Given the description of an element on the screen output the (x, y) to click on. 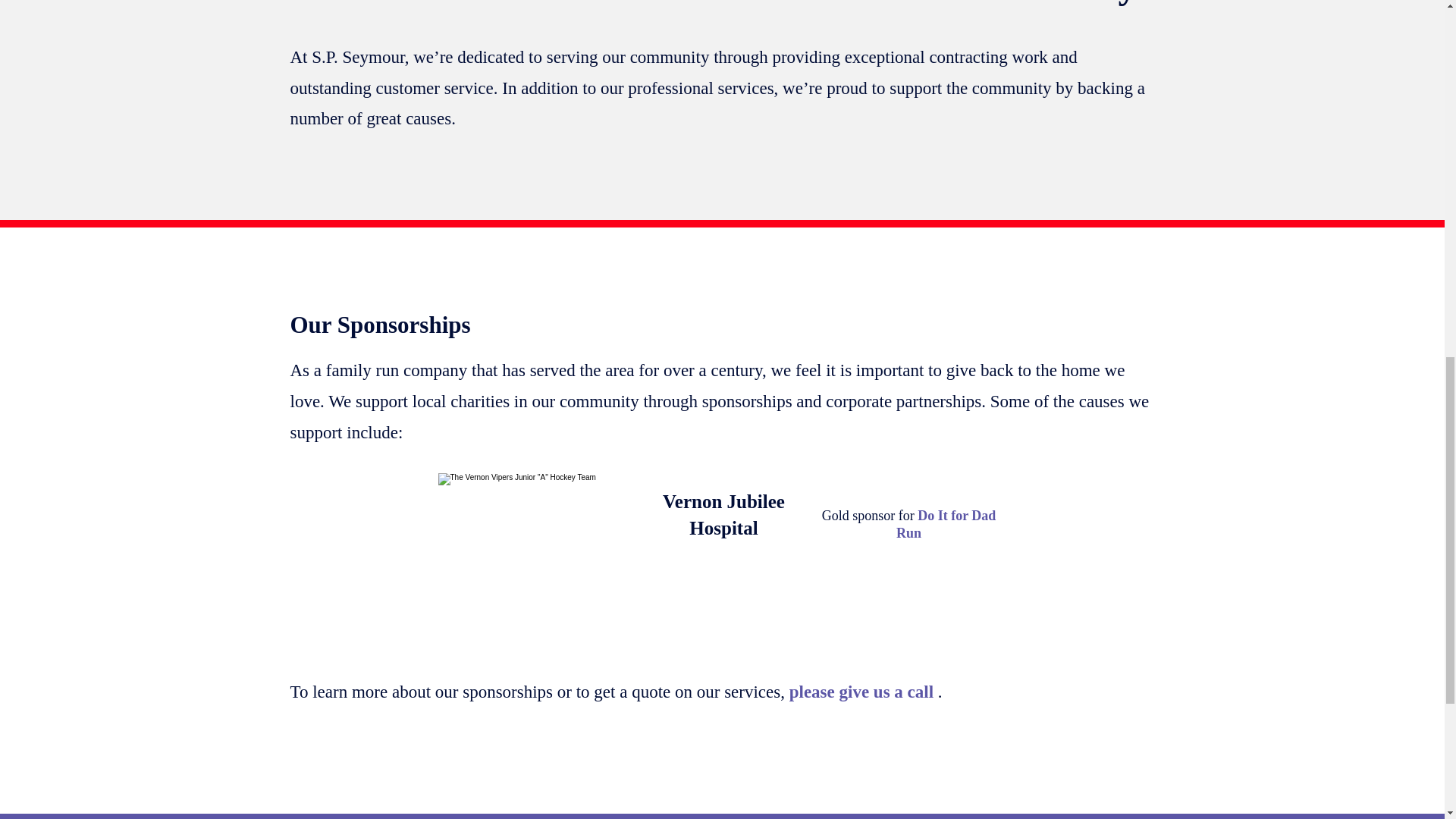
please give us a call (863, 691)
Do It for Dad Run (945, 524)
